Given the description of an element on the screen output the (x, y) to click on. 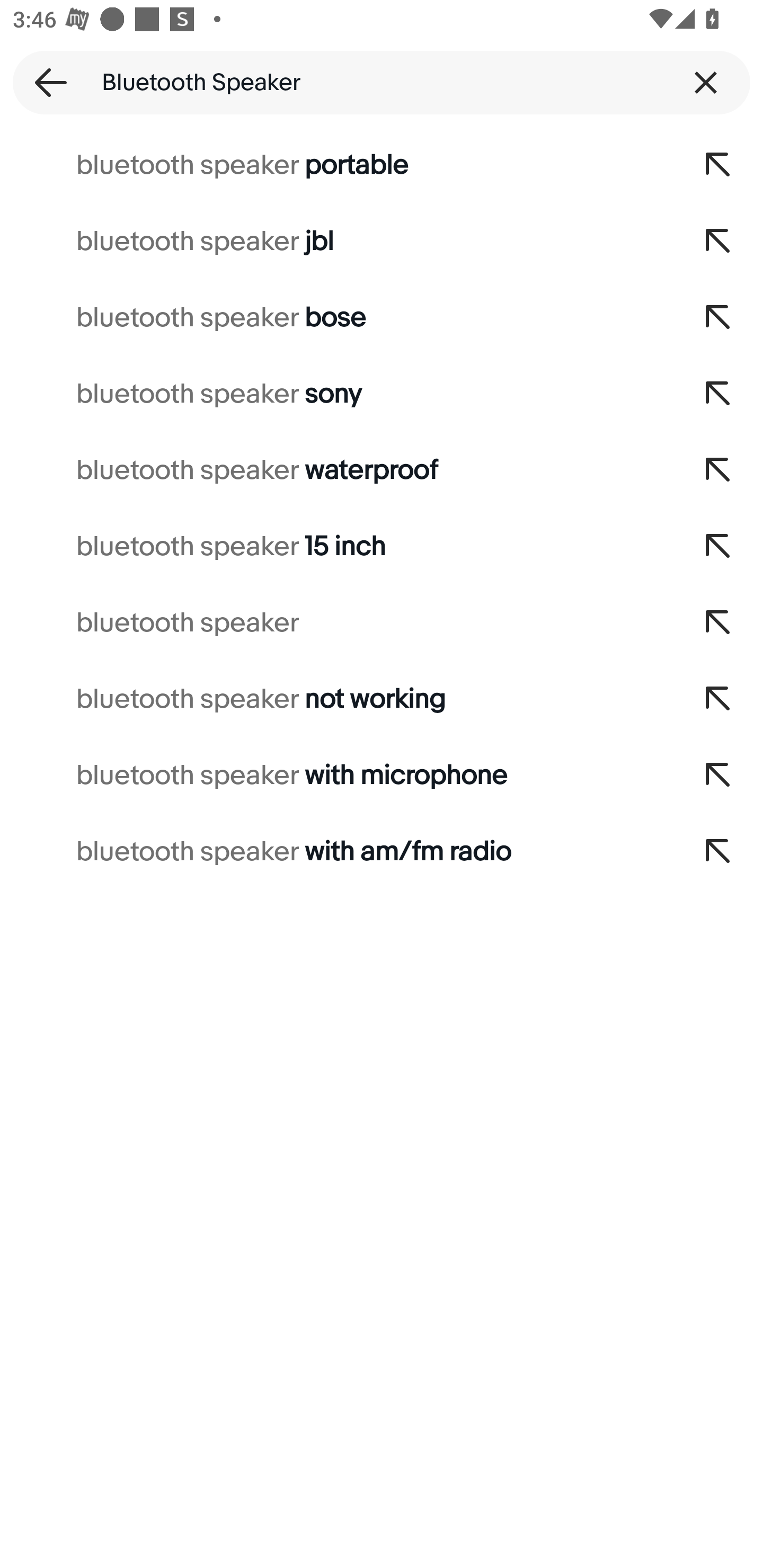
Back (44, 82)
Clear query (705, 82)
Bluetooth Speaker (381, 82)
bluetooth speaker portable (336, 165)
Add to search query,bluetooth speaker portable (718, 165)
bluetooth speaker jbl (336, 241)
Add to search query,bluetooth speaker jbl (718, 241)
bluetooth speaker bose (336, 317)
Add to search query,bluetooth speaker bose (718, 317)
bluetooth speaker sony (336, 393)
Add to search query,bluetooth speaker sony (718, 393)
bluetooth speaker waterproof (336, 470)
Add to search query,bluetooth speaker waterproof (718, 470)
bluetooth speaker 15 inch (336, 546)
Add to search query,bluetooth speaker 15 inch (718, 546)
bluetooth speaker (336, 622)
Add to search query,bluetooth speaker (718, 622)
bluetooth speaker not working (336, 698)
Add to search query,bluetooth speaker not working (718, 698)
bluetooth speaker with microphone (336, 774)
bluetooth speaker with am/fm radio (336, 851)
